Given the description of an element on the screen output the (x, y) to click on. 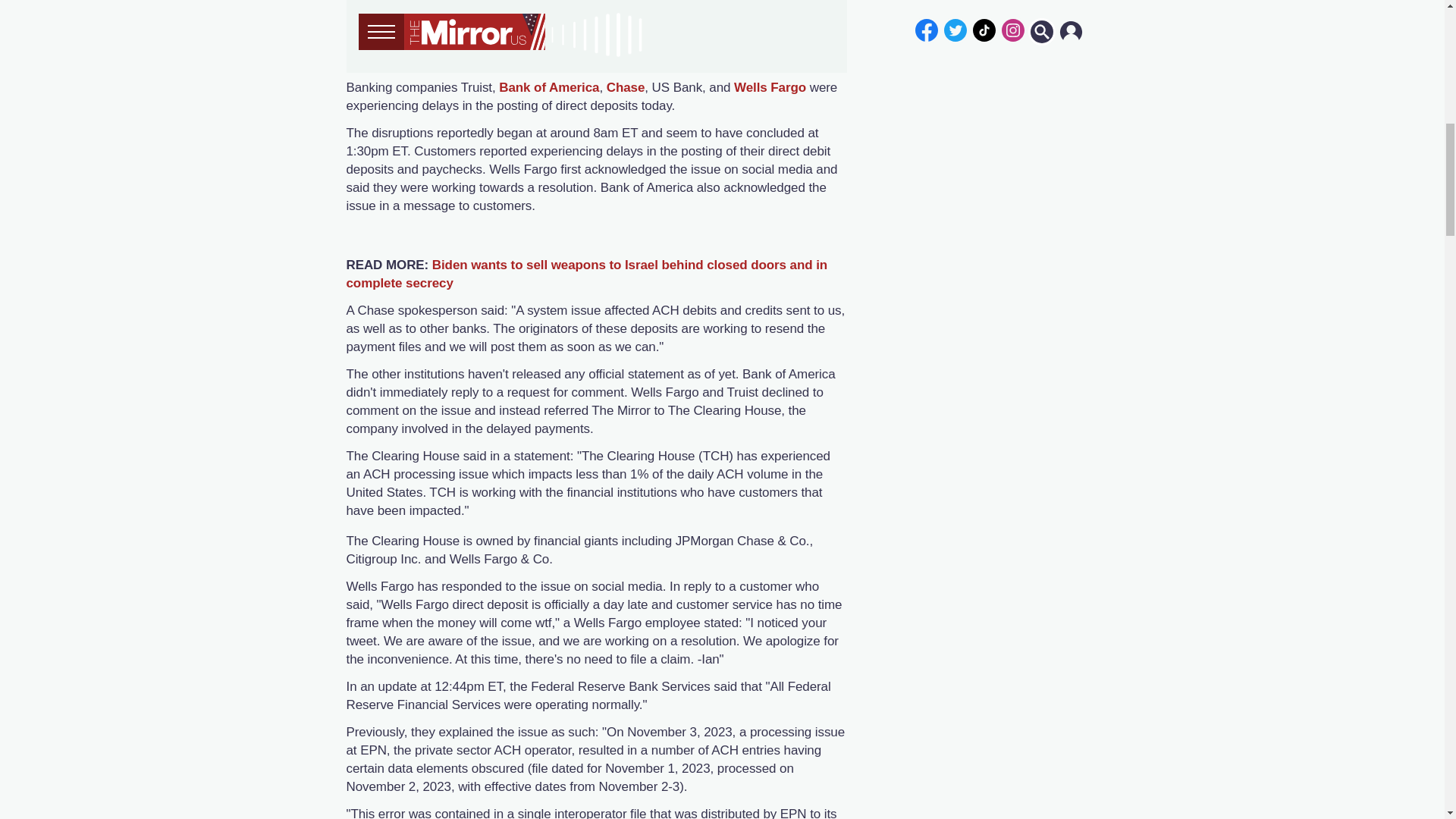
Bank of America (548, 87)
Wells Fargo (769, 87)
Chase (626, 87)
